Given the description of an element on the screen output the (x, y) to click on. 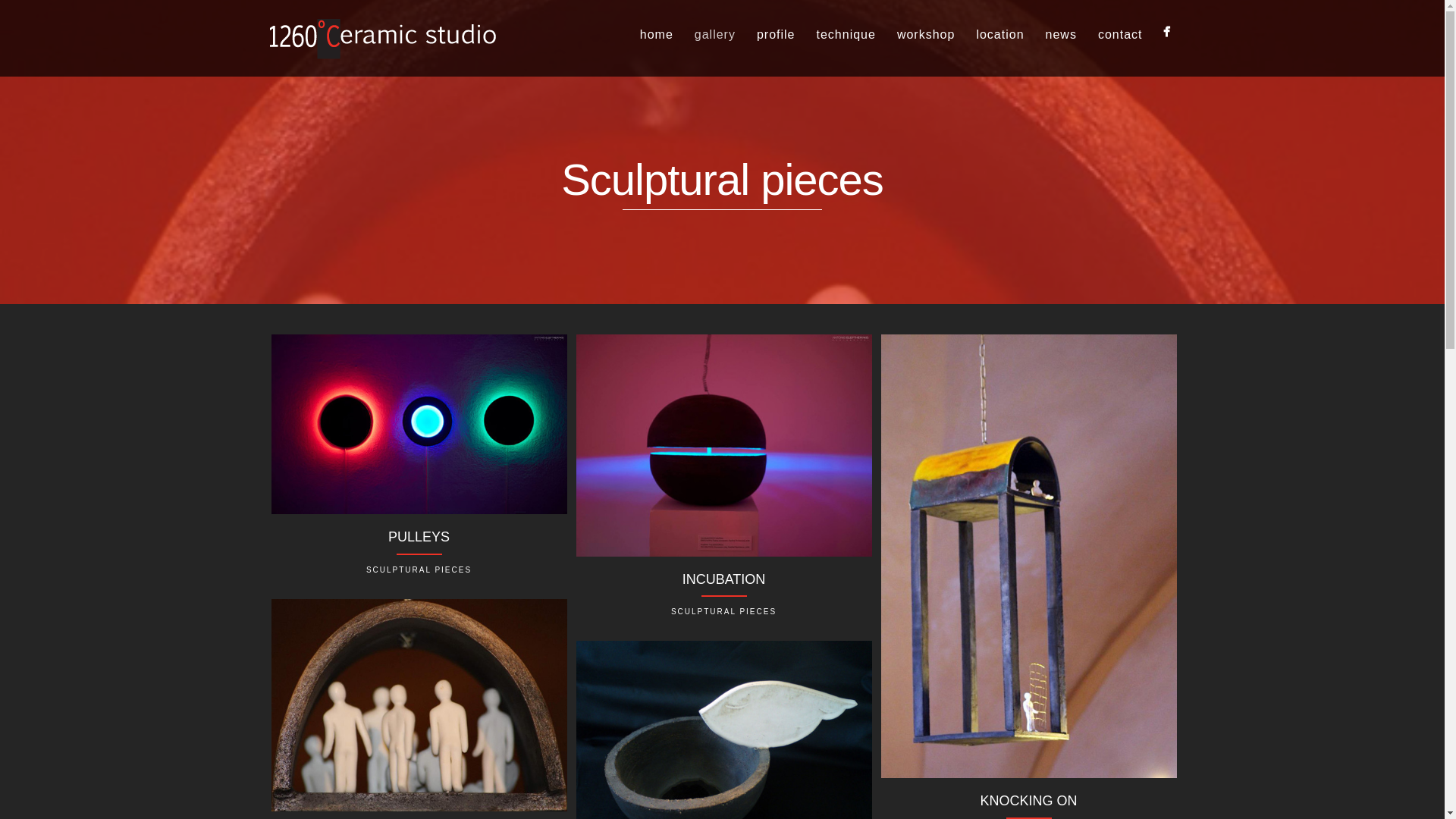
news Element type: text (1061, 34)
gallery Element type: text (715, 34)
location Element type: text (999, 34)
INCUBATION
SCULPTURAL PIECES Element type: text (724, 483)
profile Element type: text (776, 34)
PULLEYS
SCULPTURAL PIECES Element type: text (419, 461)
technique Element type: text (846, 34)
contact Element type: text (1120, 34)
home Element type: text (656, 34)
workshop Element type: text (925, 34)
